Given the description of an element on the screen output the (x, y) to click on. 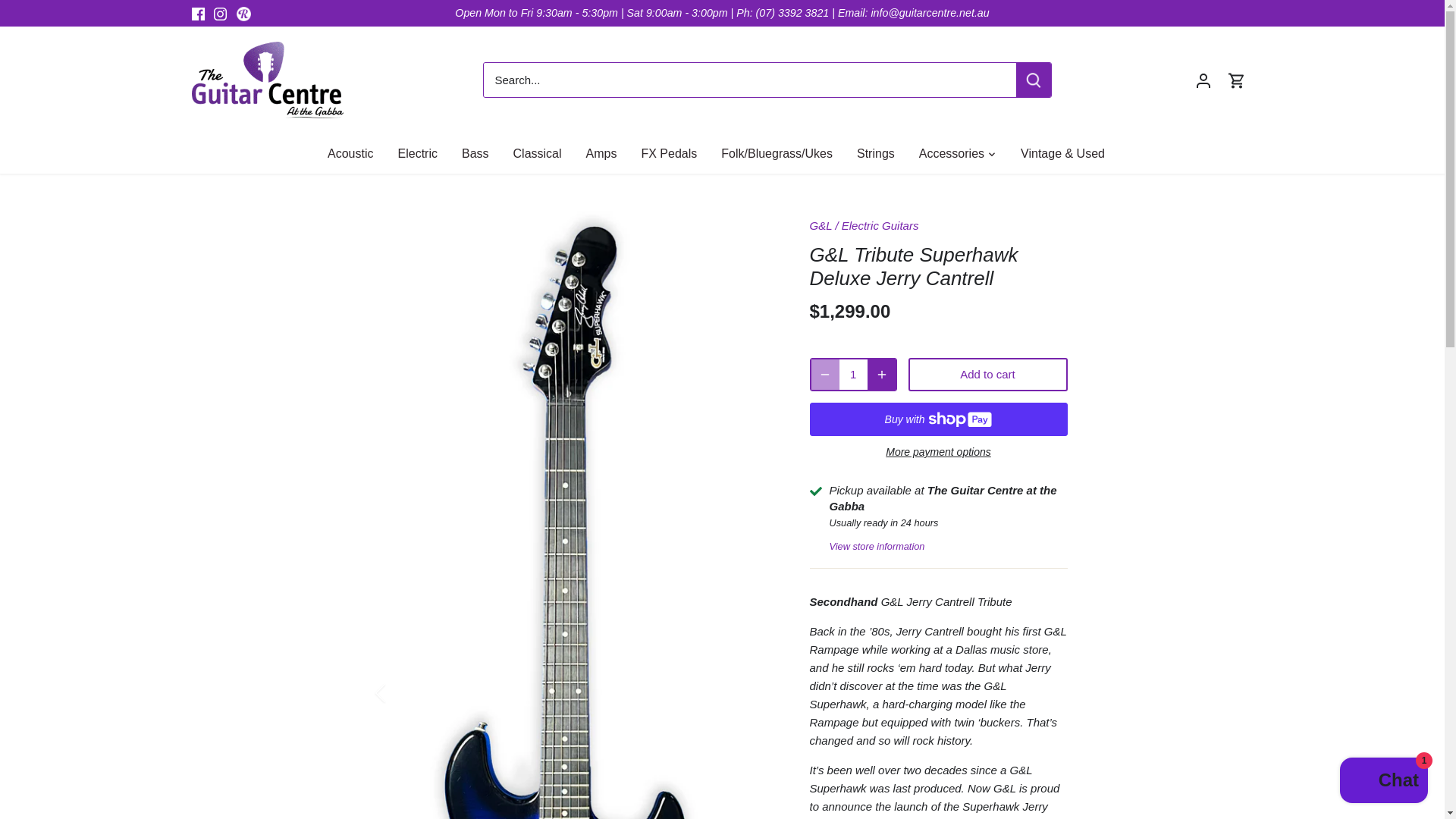
Amps (600, 153)
Acoustic (356, 153)
Strings (875, 153)
Instagram (220, 13)
Facebook (196, 13)
Classical (536, 153)
1 (852, 374)
Shopify online store chat (1383, 781)
Bass (474, 153)
Accessories (951, 153)
FX Pedals (668, 153)
Electric (417, 153)
